Given the description of an element on the screen output the (x, y) to click on. 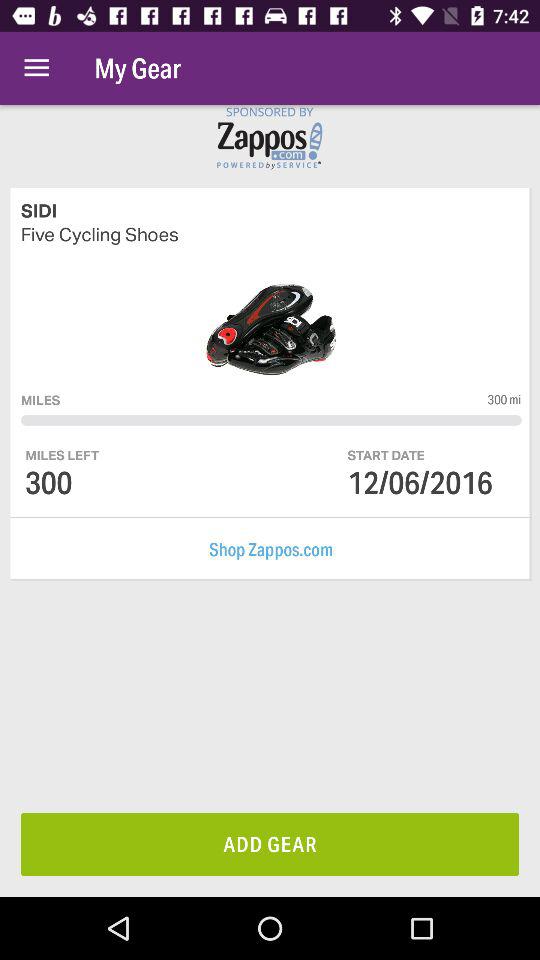
open the miles left icon (62, 454)
